Given the description of an element on the screen output the (x, y) to click on. 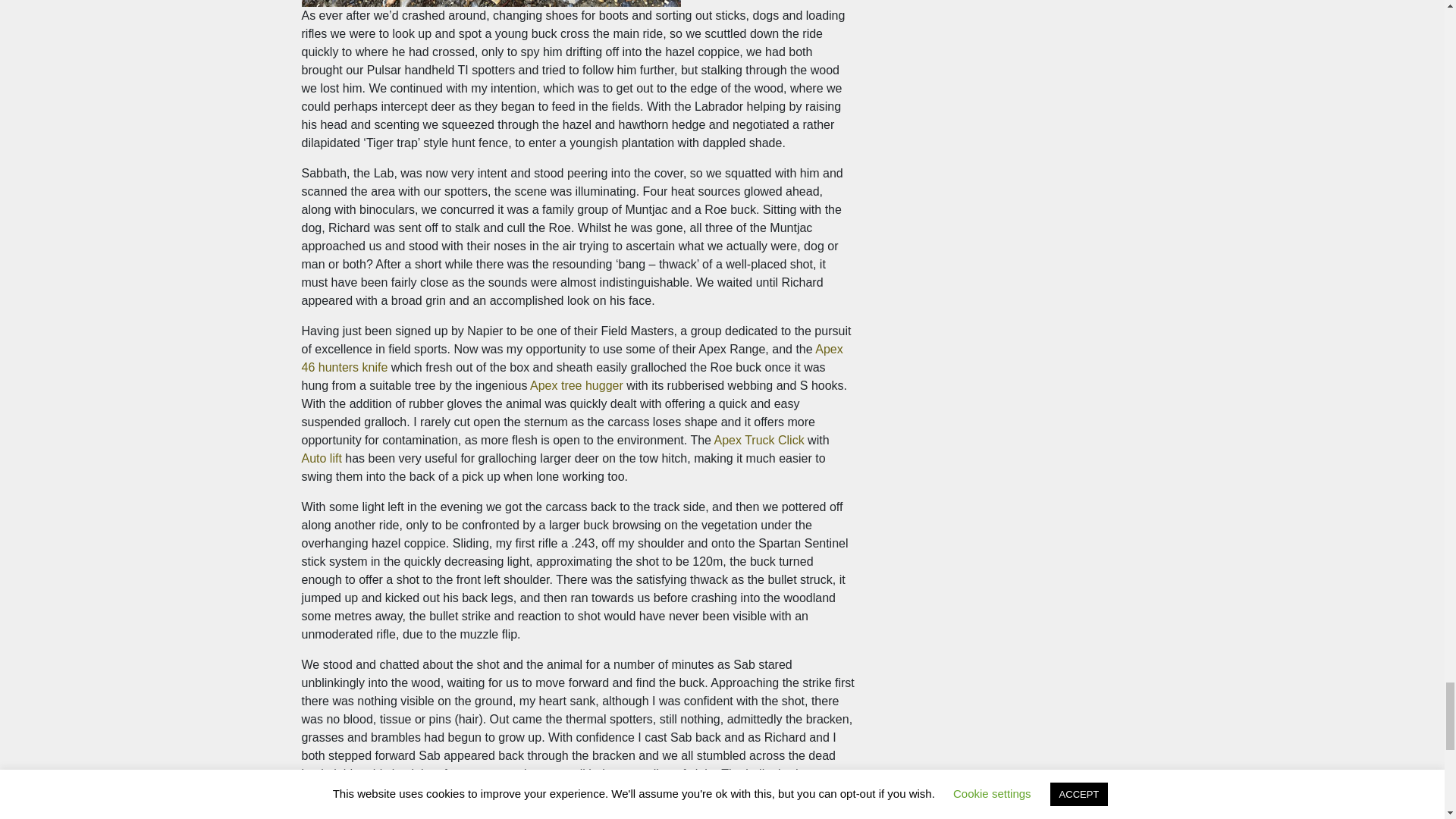
Apex tree huger, (576, 385)
Apex 46 huters knife (572, 358)
